Given the description of an element on the screen output the (x, y) to click on. 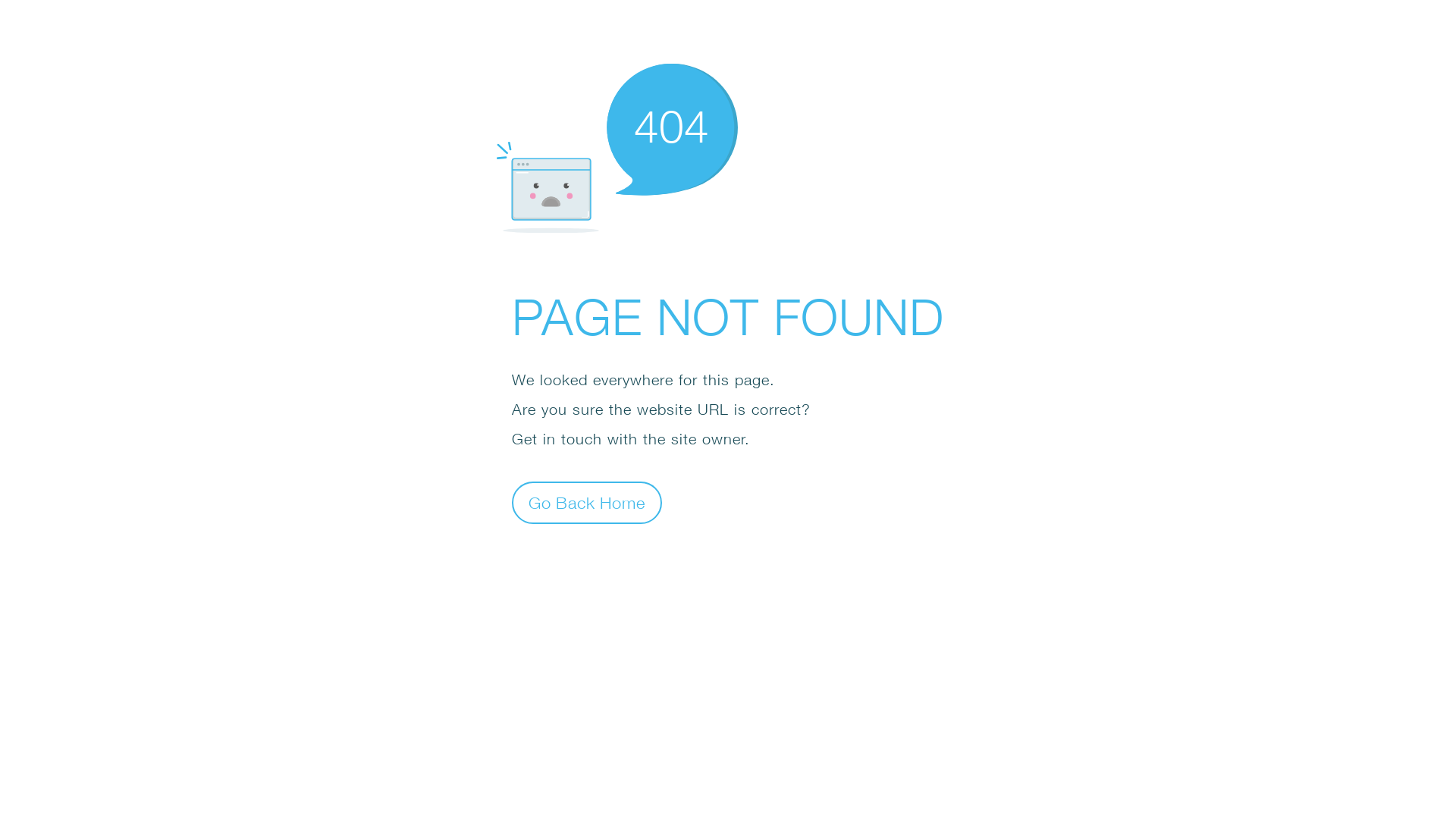
Go Back Home Element type: text (586, 502)
